Given the description of an element on the screen output the (x, y) to click on. 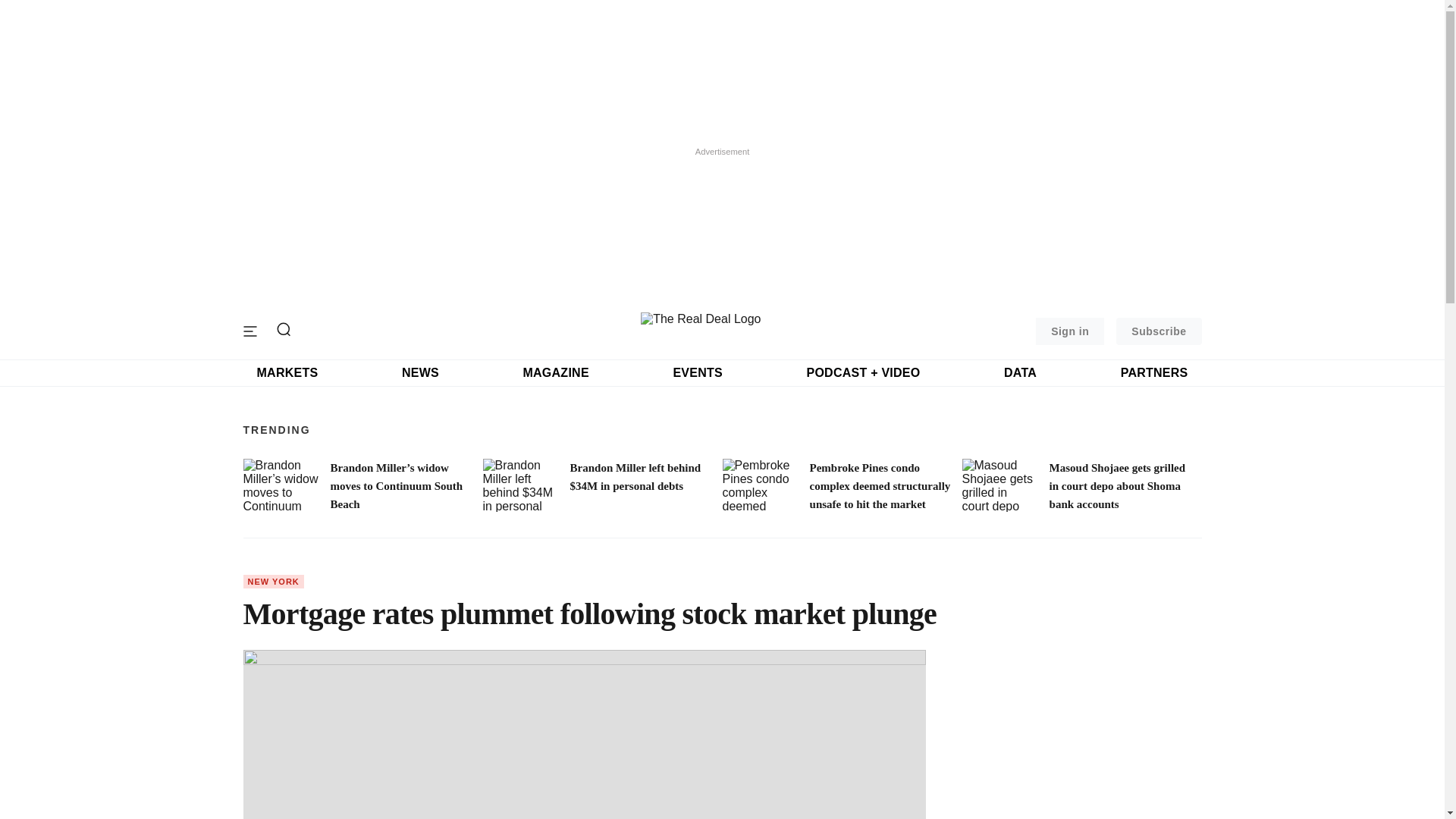
MAGAZINE (555, 373)
EVENTS (697, 373)
Sign in (1069, 330)
MARKETS (286, 373)
NEWS (420, 373)
Subscribe (1158, 330)
